Given the description of an element on the screen output the (x, y) to click on. 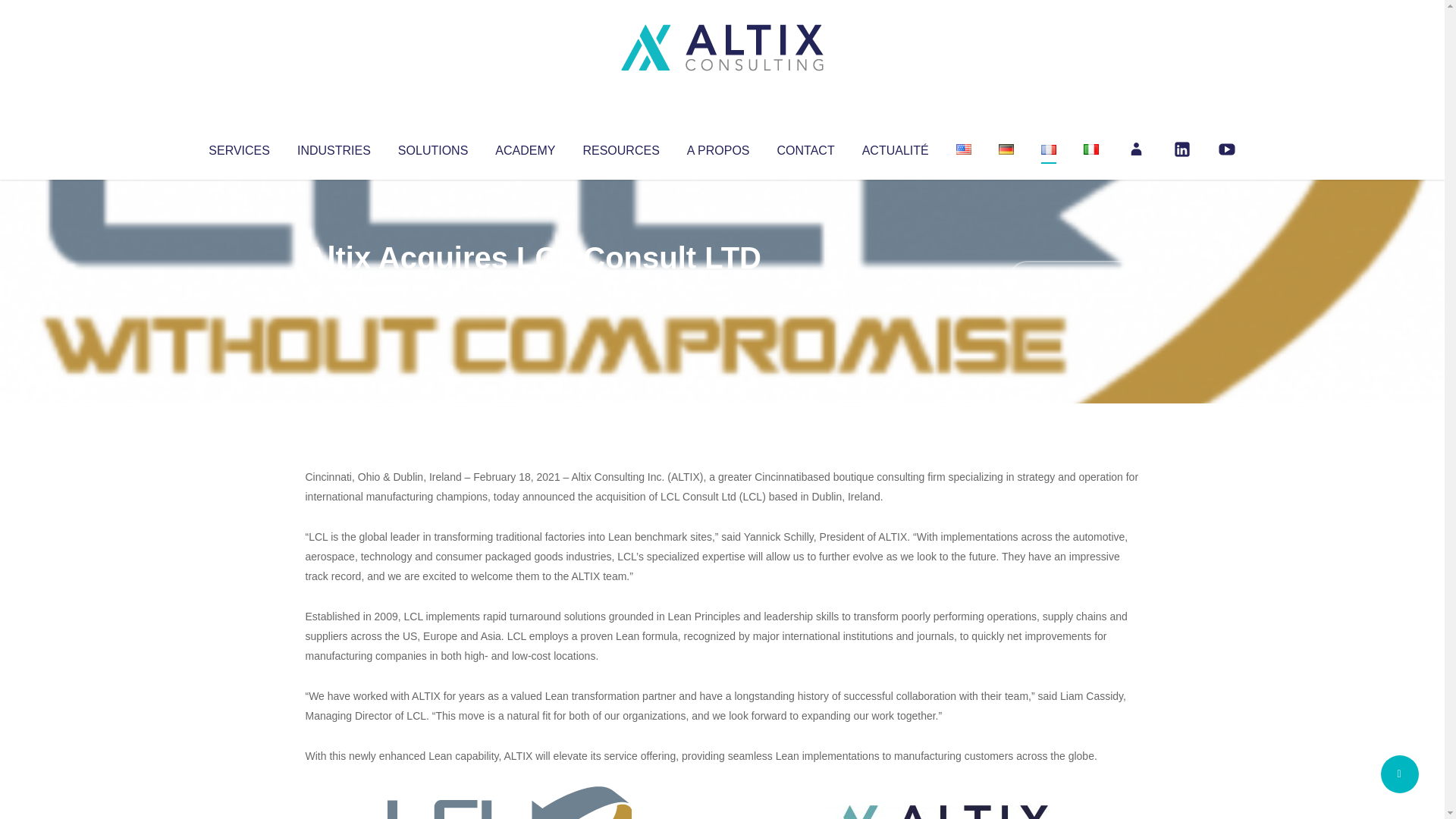
No Comments (1073, 278)
Articles par Altix (333, 287)
SERVICES (238, 146)
Altix (333, 287)
INDUSTRIES (334, 146)
RESOURCES (620, 146)
ACADEMY (524, 146)
SOLUTIONS (432, 146)
Uncategorized (530, 287)
A PROPOS (718, 146)
